Given the description of an element on the screen output the (x, y) to click on. 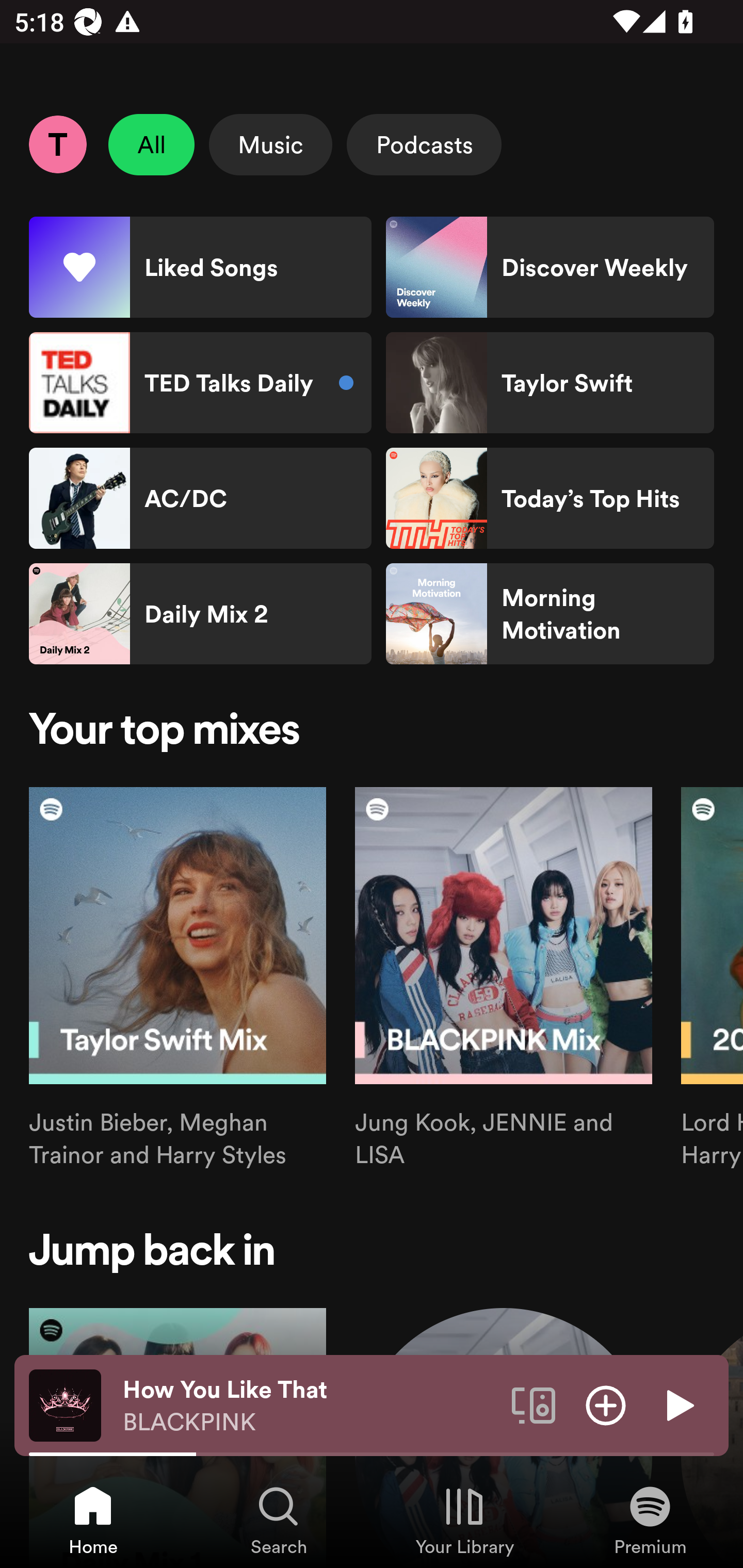
Profile (57, 144)
All Unselect All (151, 144)
Music Select Music (270, 144)
Podcasts Select Podcasts (423, 144)
Liked Songs Shortcut Liked Songs (199, 267)
Discover Weekly Shortcut Discover Weekly (549, 267)
Taylor Swift Shortcut Taylor Swift (549, 382)
AC/DC Shortcut AC/DC (199, 498)
Today’s Top Hits Shortcut Today’s Top Hits (549, 498)
Daily Mix 2 Shortcut Daily Mix 2 (199, 613)
Morning Motivation Shortcut Morning Motivation (549, 613)
How You Like That BLACKPINK (309, 1405)
The cover art of the currently playing track (64, 1404)
Connect to a device. Opens the devices menu (533, 1404)
Add item (605, 1404)
Play (677, 1404)
Home, Tab 1 of 4 Home Home (92, 1519)
Search, Tab 2 of 4 Search Search (278, 1519)
Your Library, Tab 3 of 4 Your Library Your Library (464, 1519)
Premium, Tab 4 of 4 Premium Premium (650, 1519)
